Given the description of an element on the screen output the (x, y) to click on. 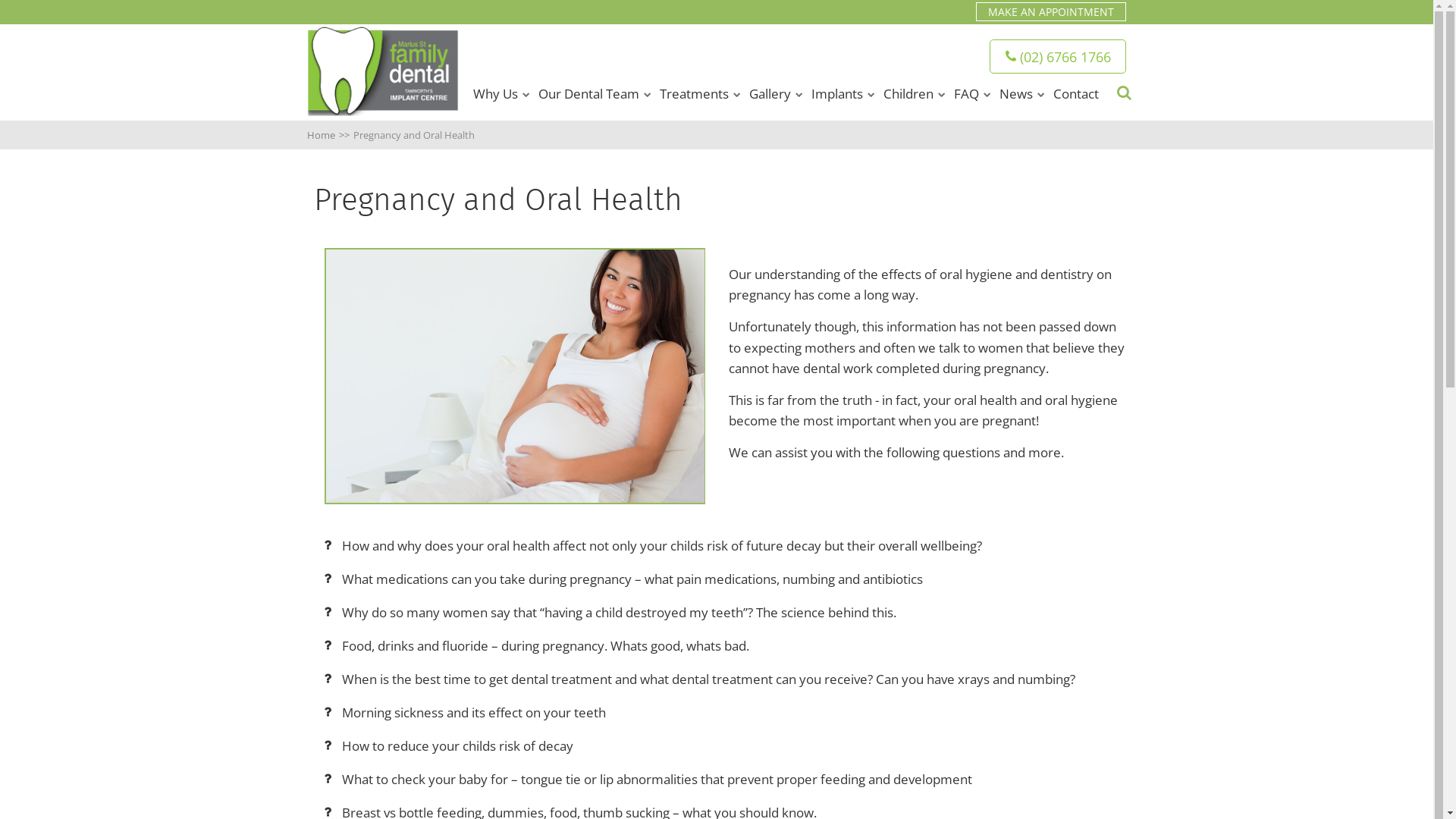
Our Dental Team Element type: text (588, 93)
Contact Element type: text (1075, 93)
Treatments Element type: text (693, 93)
Children Element type: text (908, 93)
(02) 6766 1766 Element type: text (1057, 56)
FAQ Element type: text (966, 93)
Beautiful pregnant woman posing while lying on a bed Element type: hover (515, 375)
Why Us Element type: text (495, 93)
Home >> Element type: text (330, 134)
News Element type: text (1015, 93)
Gallery Element type: text (769, 93)
MAKE AN APPOINTMENT Element type: text (1050, 11)
Implants Element type: text (836, 93)
